Given the description of an element on the screen output the (x, y) to click on. 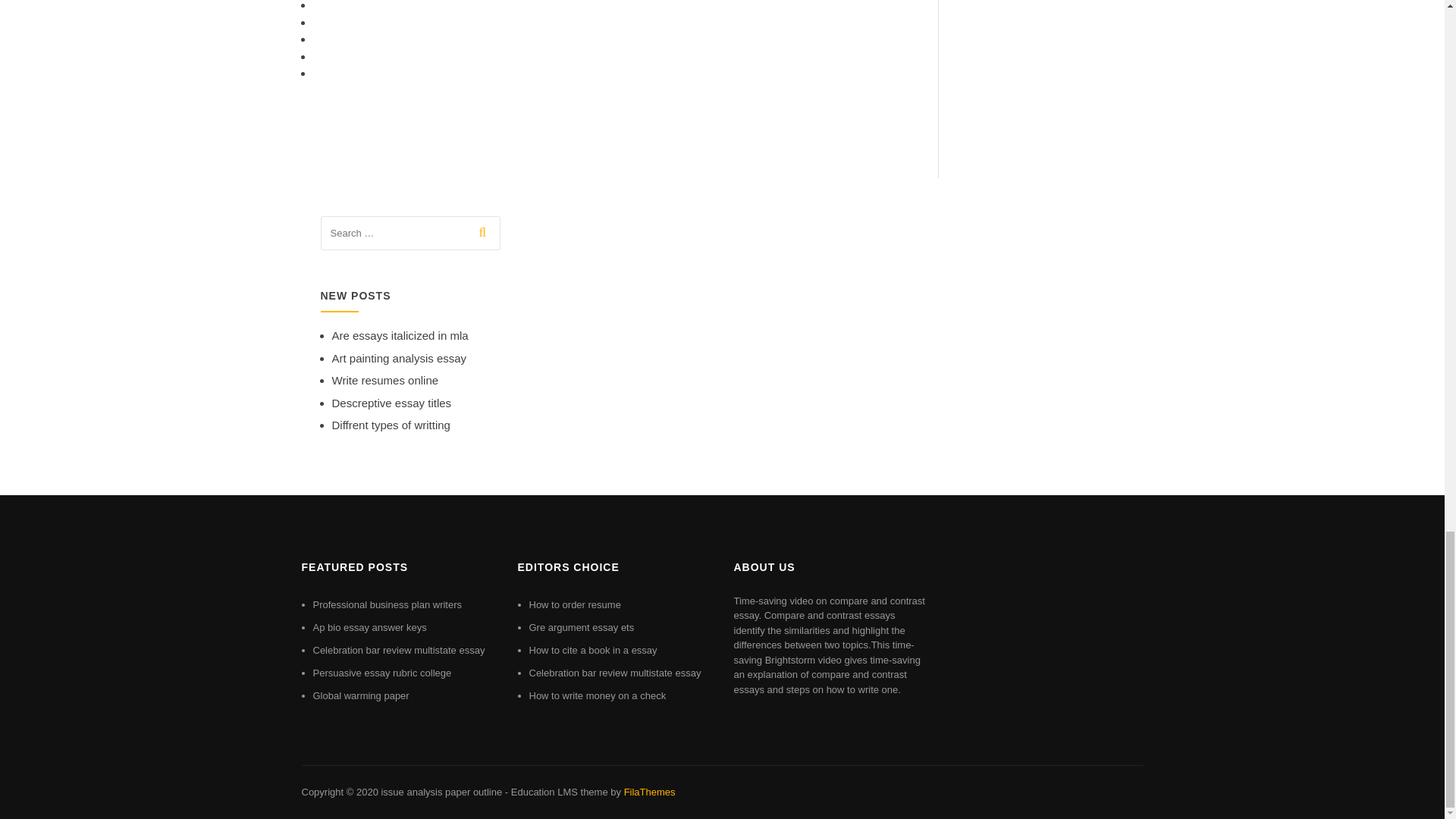
Persuasive essay rubric college (382, 672)
Celebration bar review multistate essay (398, 650)
Write resumes online (385, 379)
Celebration bar review multistate essay (615, 672)
How to cite a book in a essay (593, 650)
Art painting analysis essay (399, 358)
Global warming paper (361, 695)
Professional business plan writers (387, 604)
Are essays italicized in mla (399, 335)
Ap bio essay answer keys (369, 627)
issue analysis paper outline (441, 791)
Descreptive essay titles (391, 402)
Diffrent types of writting (390, 424)
How to write money on a check (597, 695)
Gre argument essay ets (581, 627)
